Given the description of an element on the screen output the (x, y) to click on. 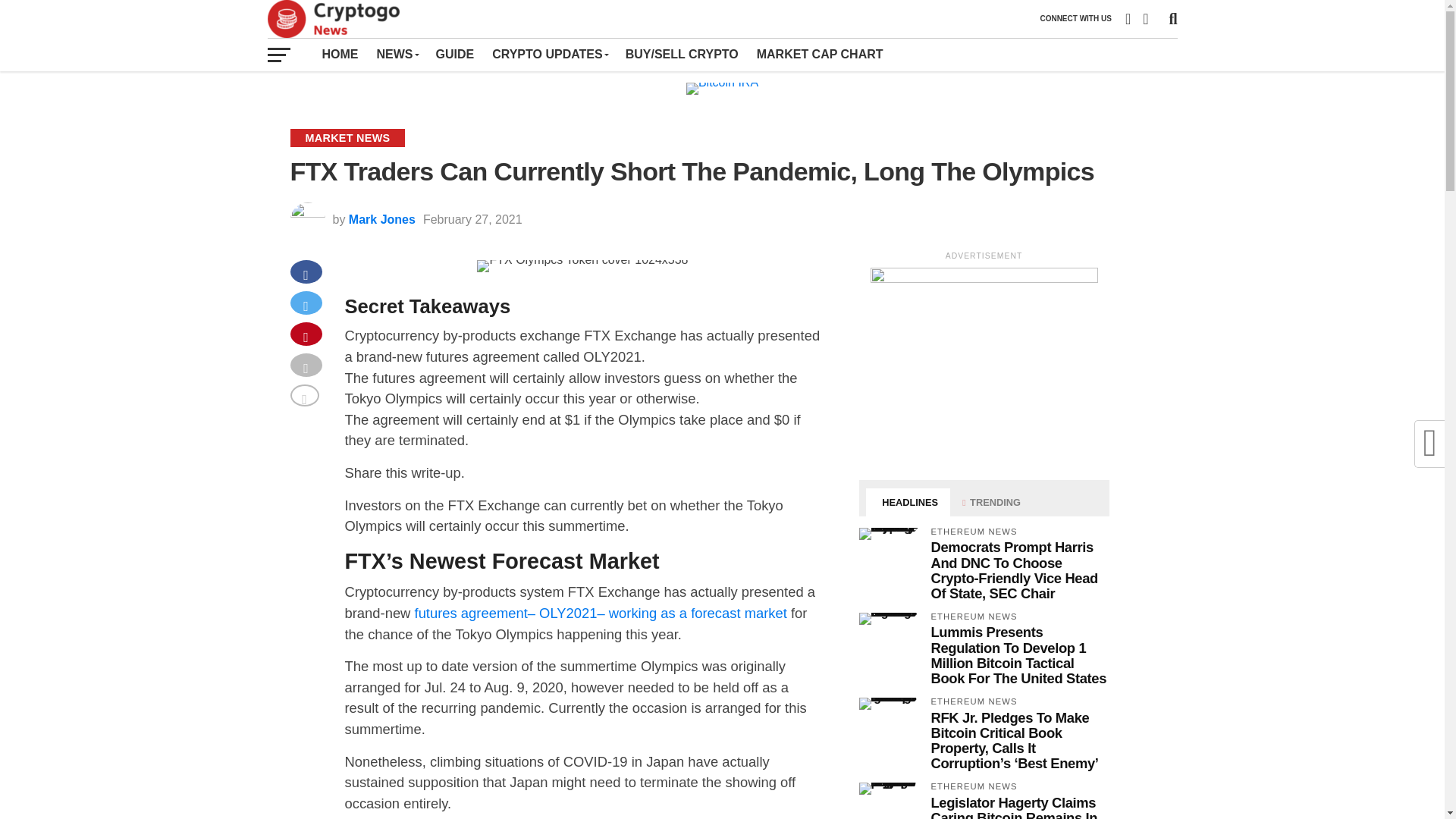
HOME (339, 54)
MARKET CAP CHART (820, 54)
NEWS (396, 54)
Mark Jones (381, 219)
Posts by Mark Jones (381, 219)
CRYPTO UPDATES (549, 54)
GUIDE (454, 54)
Bitcoin IRA (721, 88)
